Given the description of an element on the screen output the (x, y) to click on. 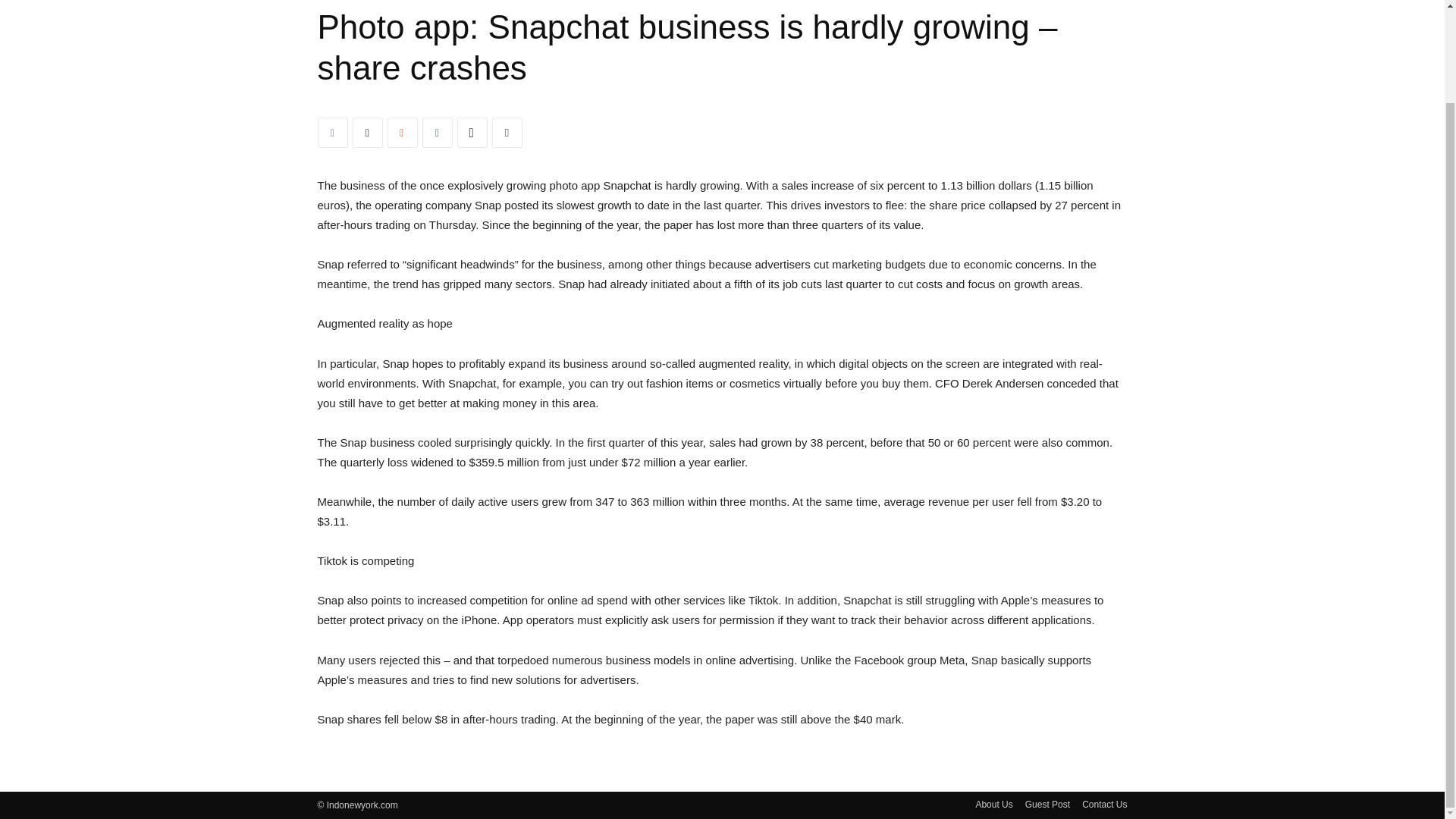
Digg (471, 132)
Print (506, 132)
Facebook (332, 132)
Mix (401, 132)
About Us (993, 804)
Twitter (366, 132)
Tumblr (436, 132)
Contact Us (1103, 804)
Guest Post (1047, 804)
